Given the description of an element on the screen output the (x, y) to click on. 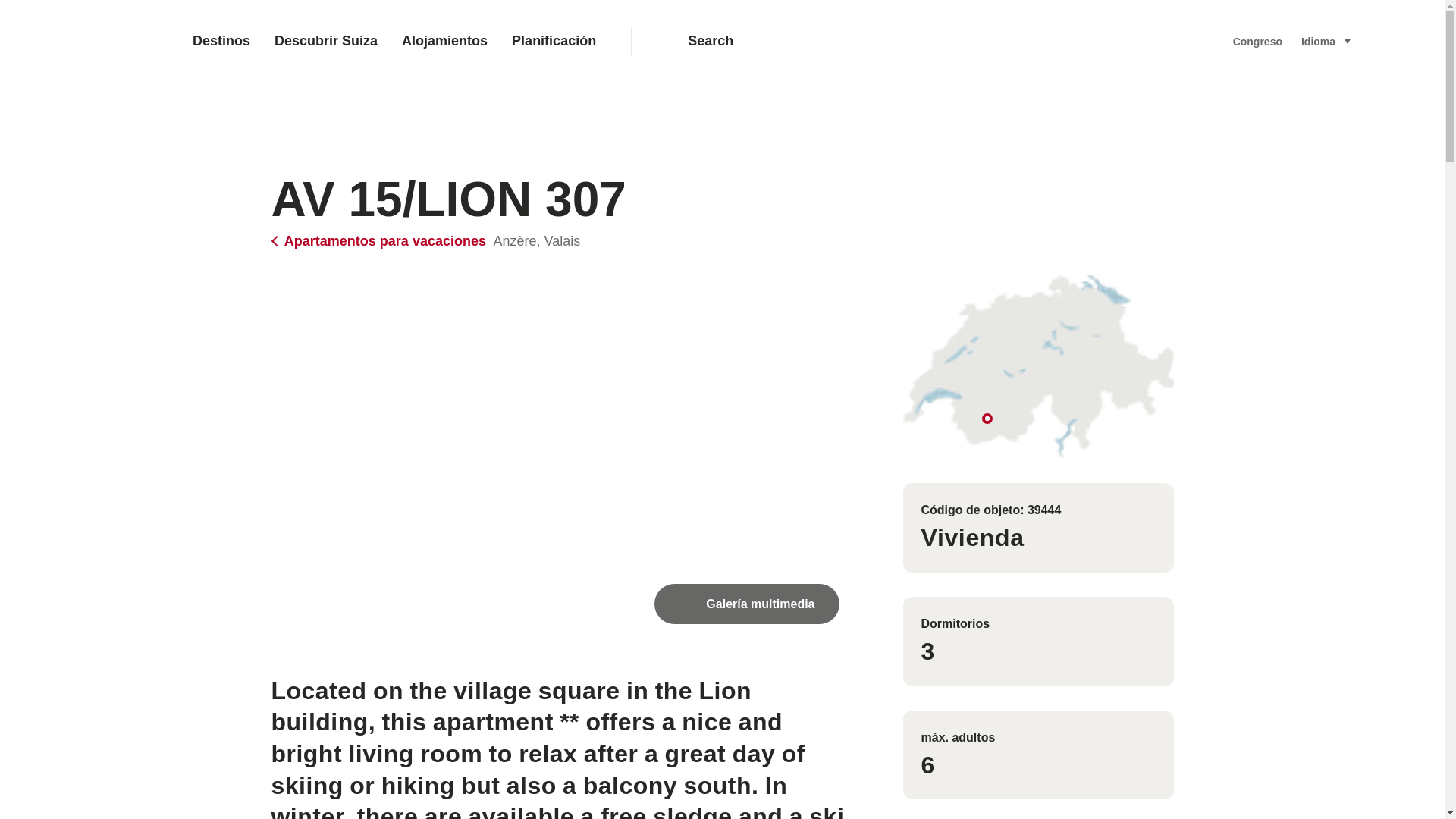
MySwitzerland (86, 41)
Search (935, 41)
Mostrar en el mapa (1037, 366)
Descubrir Suiza (326, 41)
Alojamientos (444, 41)
Congreso (1257, 40)
Destinos (221, 41)
